Given the description of an element on the screen output the (x, y) to click on. 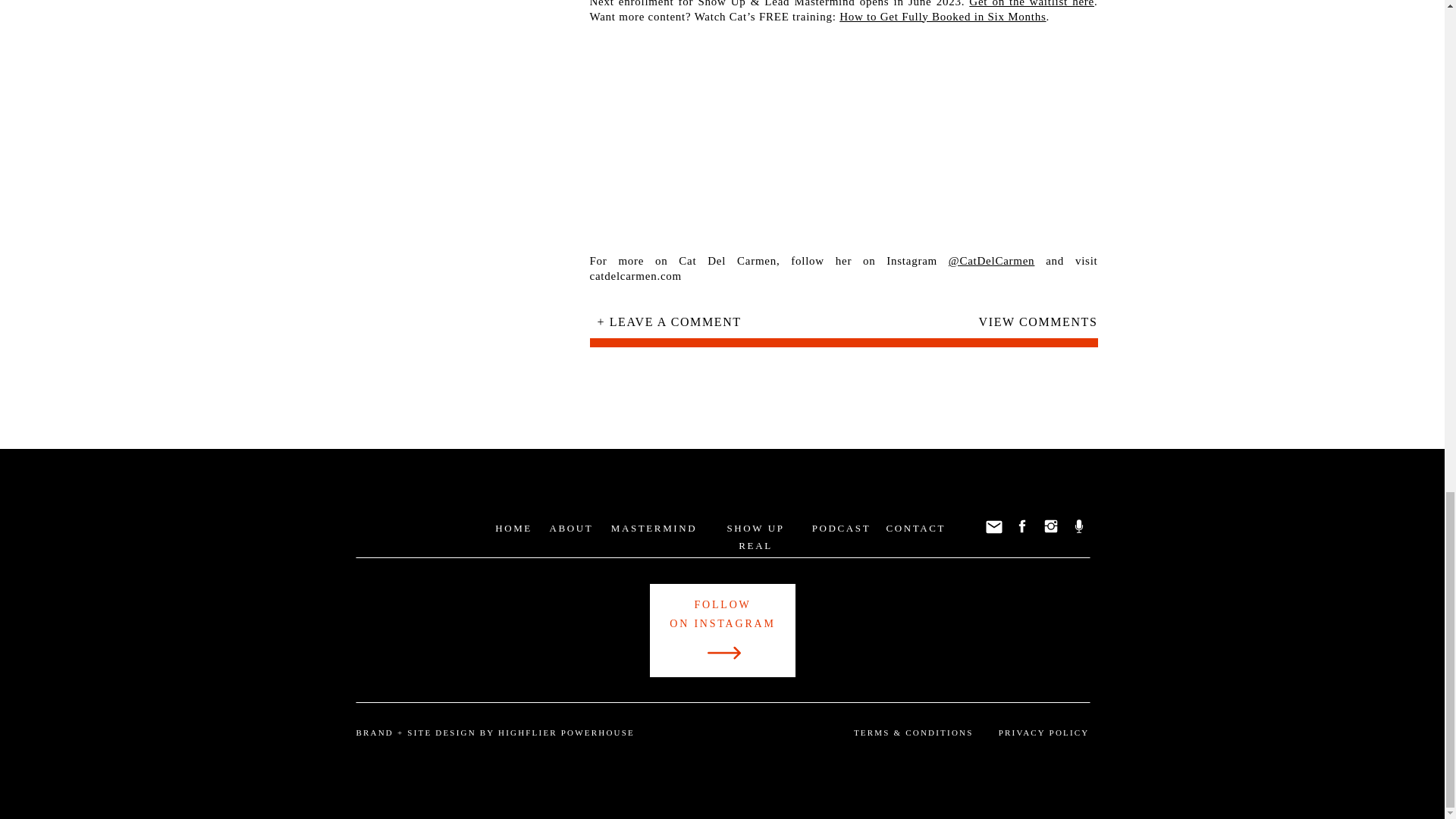
How to Get Fully Booked in Six Months (942, 15)
VIEW COMMENTS (1020, 326)
PRIVACY POLICY (1041, 733)
HOME (513, 527)
Get on the waitlist here (1031, 3)
ABOUT (571, 527)
MASTERMIND (654, 527)
PODCAST (841, 527)
CONTACT (914, 527)
